Given the description of an element on the screen output the (x, y) to click on. 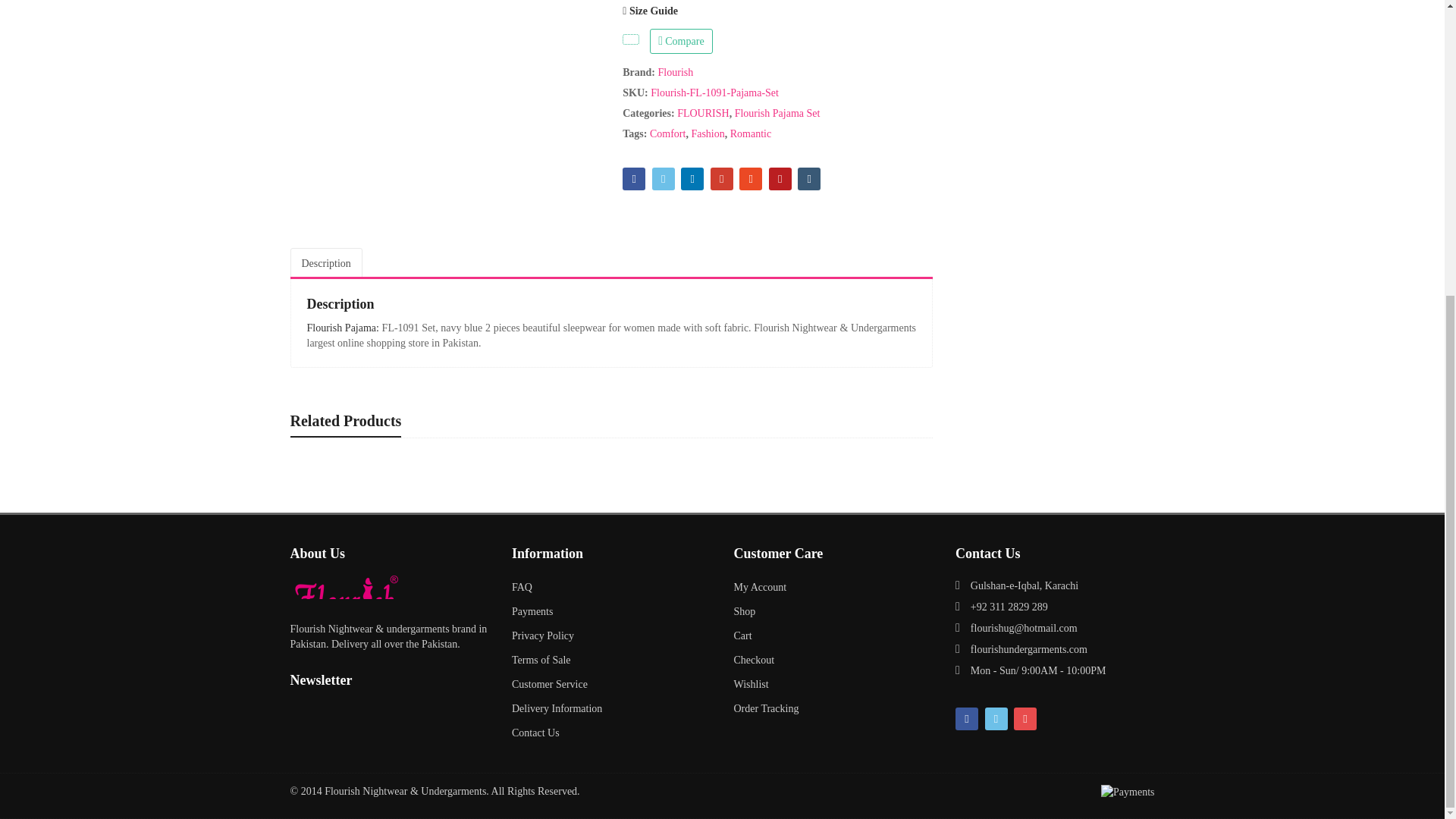
Share on Tumblr (809, 178)
Share on Twitter (663, 178)
Share on Pinterest (780, 178)
Share on Facebook (634, 178)
Share on LinkedIn (692, 178)
Share on Stumbleupon (750, 178)
Share on Google Plus (721, 178)
